Given the description of an element on the screen output the (x, y) to click on. 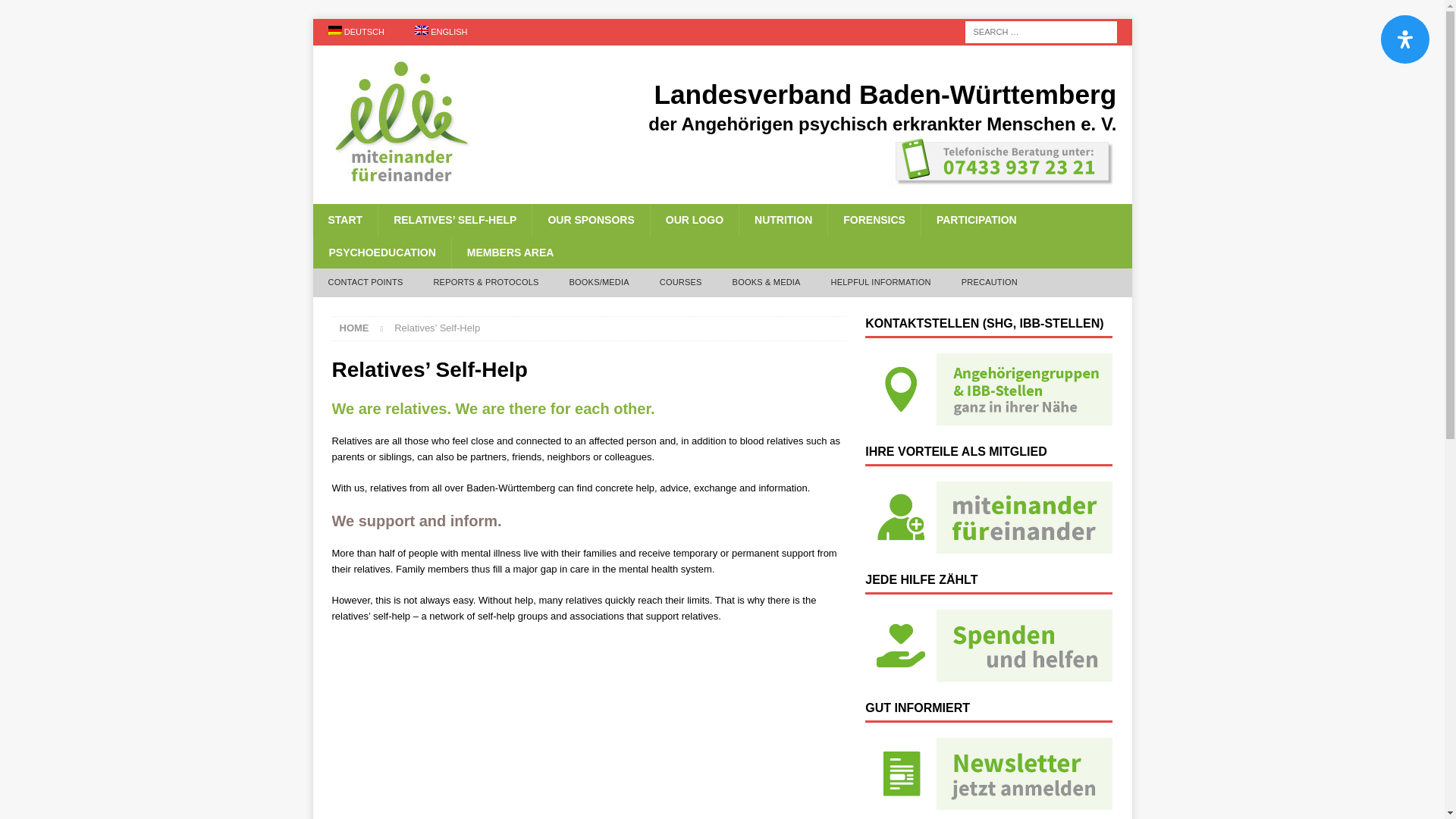
OUR SPONSORS (590, 219)
CONTACT POINTS (365, 282)
PARTICIPATION (976, 219)
ENGLISH (440, 31)
MEMBERS AREA (510, 252)
HELPFUL INFORMATION (880, 282)
Accessibility (1404, 39)
HOME (354, 327)
Home (354, 327)
Spenden und helfen (988, 645)
Deutsch (355, 31)
DEUTSCH (355, 31)
OUR LOGO (693, 219)
FORENSICS (873, 219)
Search (56, 11)
